Given the description of an element on the screen output the (x, y) to click on. 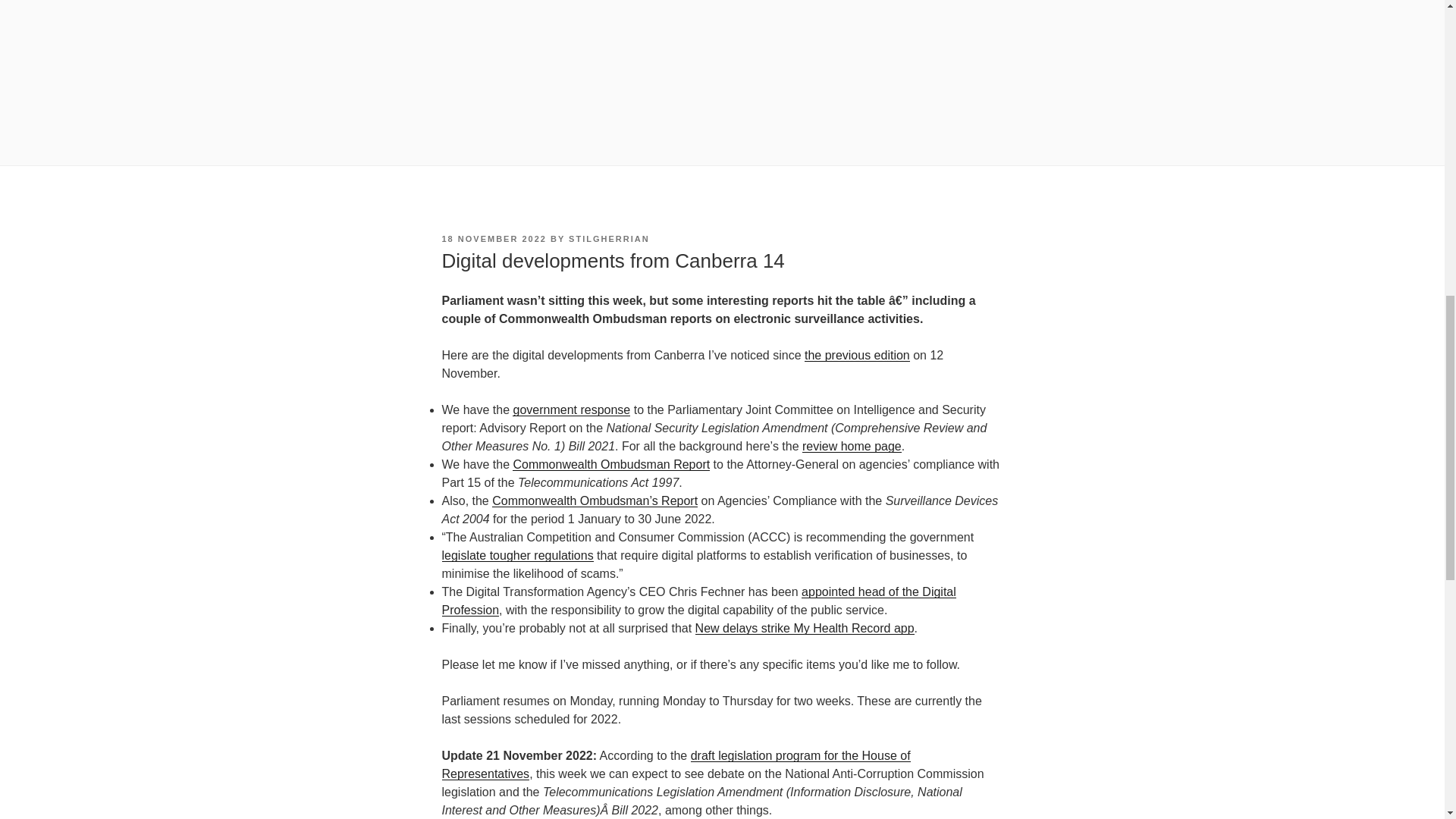
government response (571, 409)
review home page (851, 445)
New delays strike My Health Record app (804, 627)
draft legislation program for the House of Representatives (675, 764)
18 NOVEMBER 2022 (493, 238)
appointed head of the Digital Profession (698, 600)
legislate tougher regulations (516, 554)
Commonwealth Ombudsman Report (611, 463)
STILGHERRIAN (609, 238)
the previous edition (857, 354)
